Given the description of an element on the screen output the (x, y) to click on. 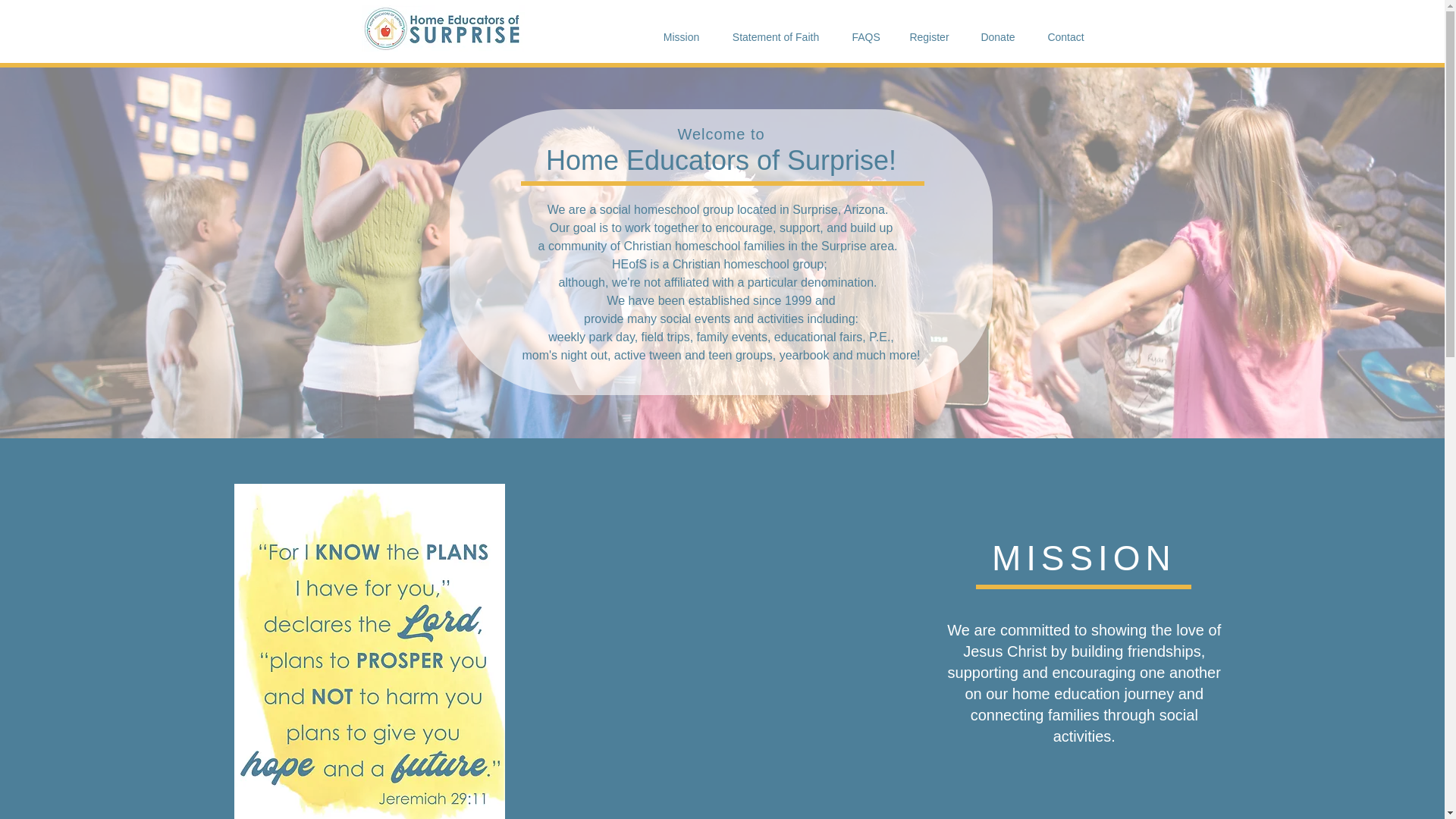
Mission (680, 36)
Contact (1065, 36)
Donate (996, 36)
Statement of Faith (774, 36)
Register (928, 36)
FAQS (865, 36)
